Given the description of an element on the screen output the (x, y) to click on. 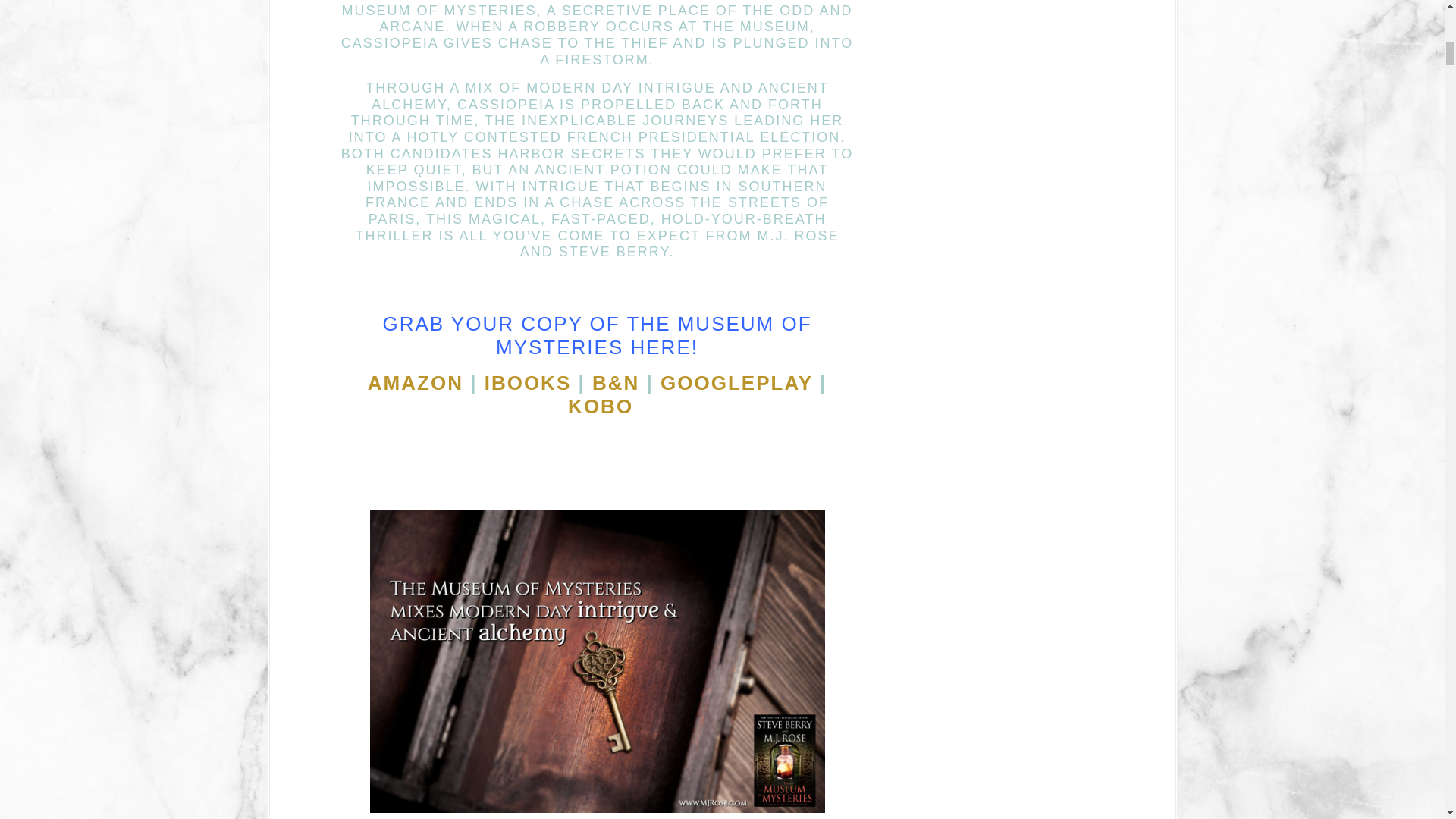
AMAZON (415, 382)
KOBO (600, 405)
IBOOKS (528, 382)
GOOGLEPLAY (736, 382)
